Given the description of an element on the screen output the (x, y) to click on. 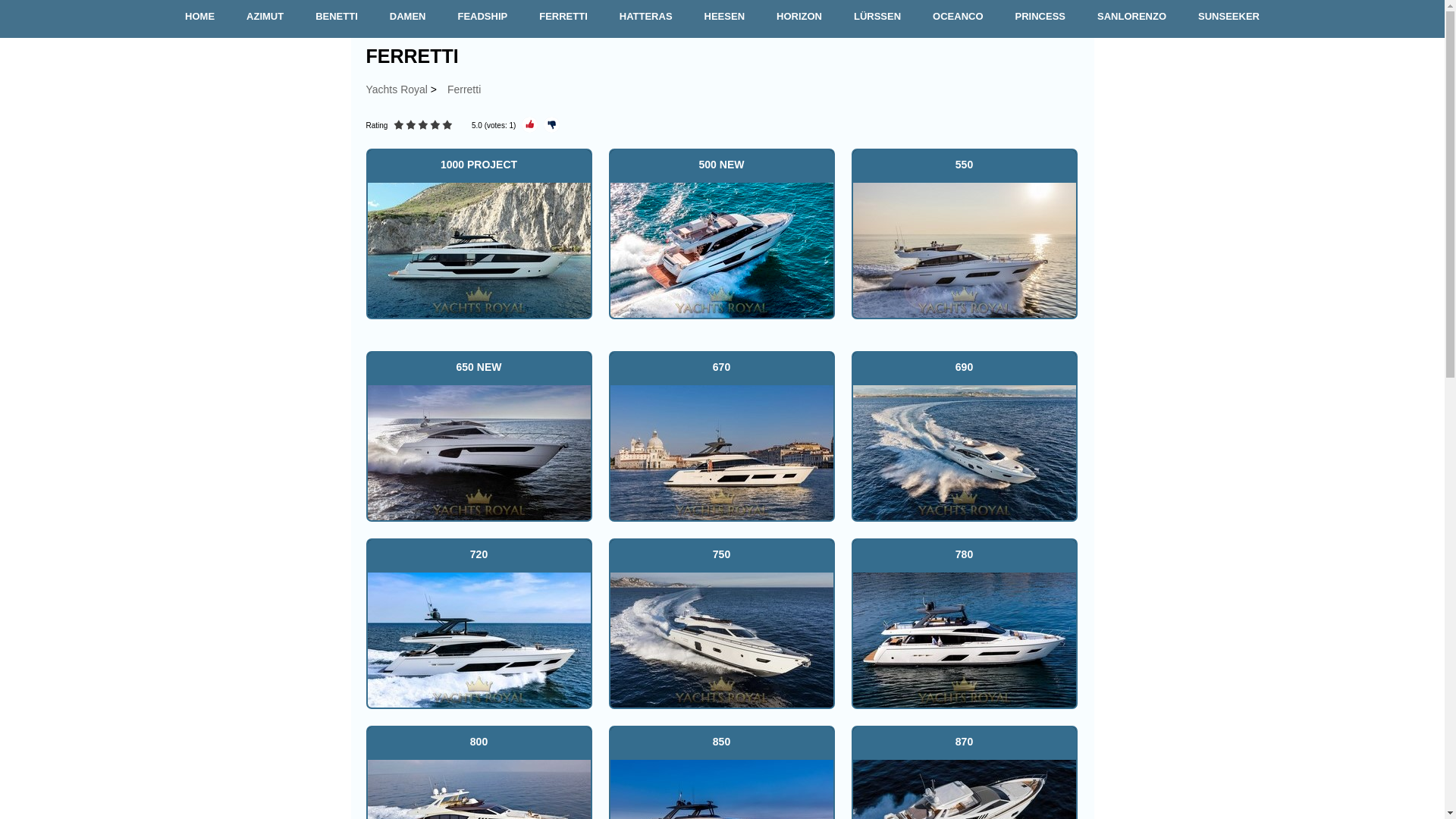
Ferretti 650 New (477, 451)
Ferretti 800 (477, 787)
DAMEN (407, 16)
FEADSHIP (482, 16)
SANLORENZO (1130, 16)
OCEANCO (957, 16)
Ferretti (463, 89)
HATTERAS (645, 16)
Ferretti 670 (721, 451)
Ferretti 500 New (721, 248)
